Given the description of an element on the screen output the (x, y) to click on. 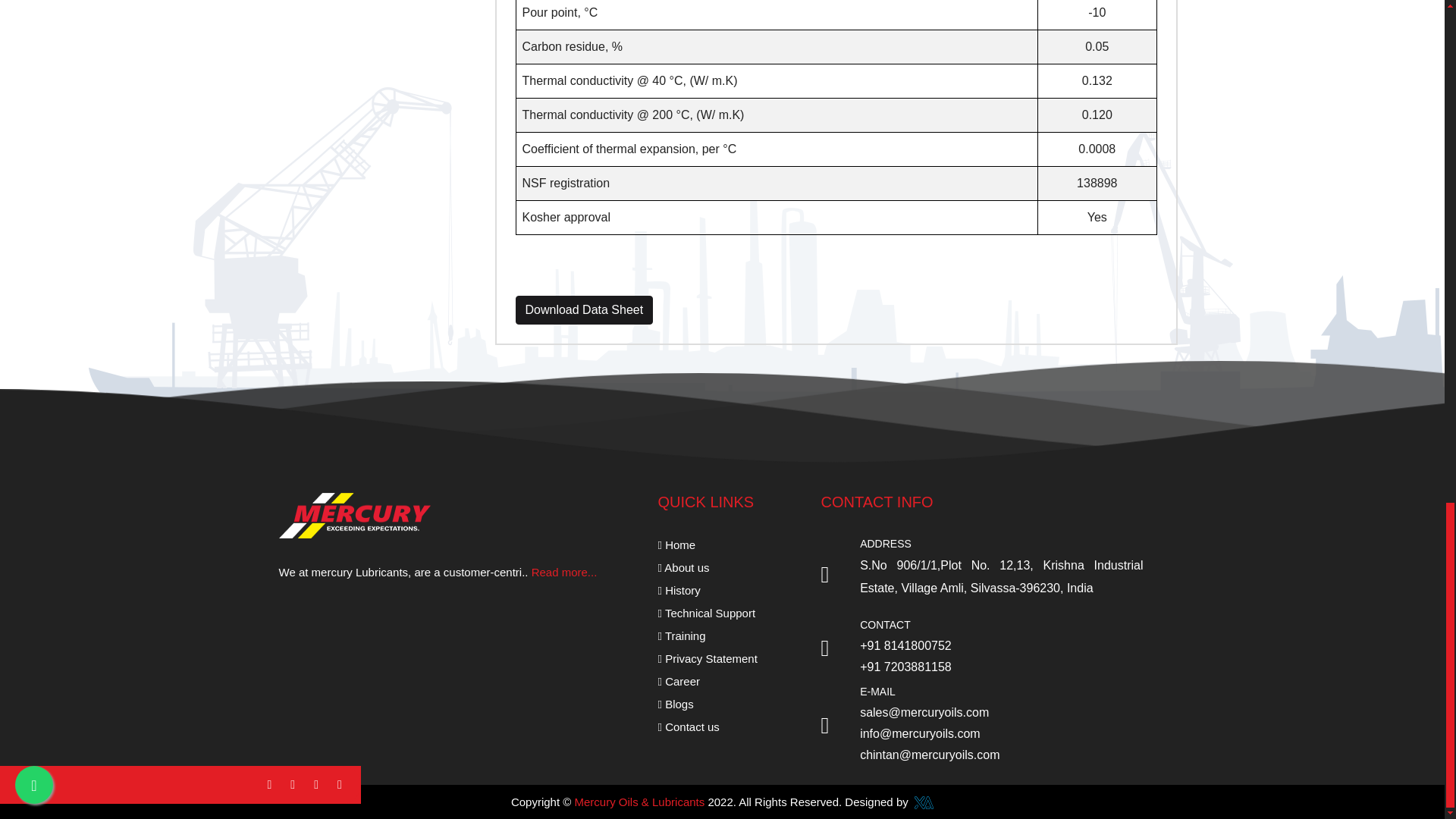
Add this item (584, 309)
